Given the description of an element on the screen output the (x, y) to click on. 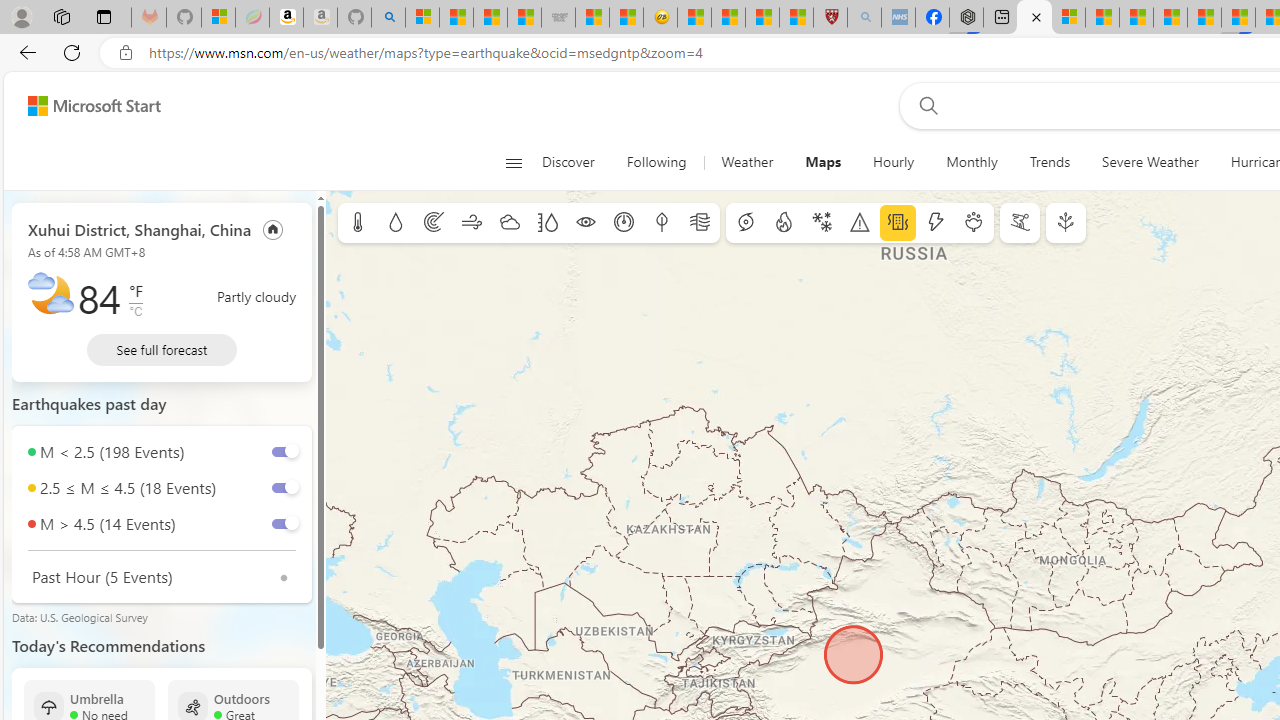
Refresh (72, 52)
Workspaces (61, 16)
Pollen (974, 223)
12 Popular Science Lies that Must be Corrected (795, 17)
Microsoft Start (94, 105)
Lightning (935, 223)
MSN (1238, 17)
Microsoft account | Privacy (1068, 17)
Monthly (971, 162)
Weather (747, 162)
Close tab (1035, 16)
